Given the description of an element on the screen output the (x, y) to click on. 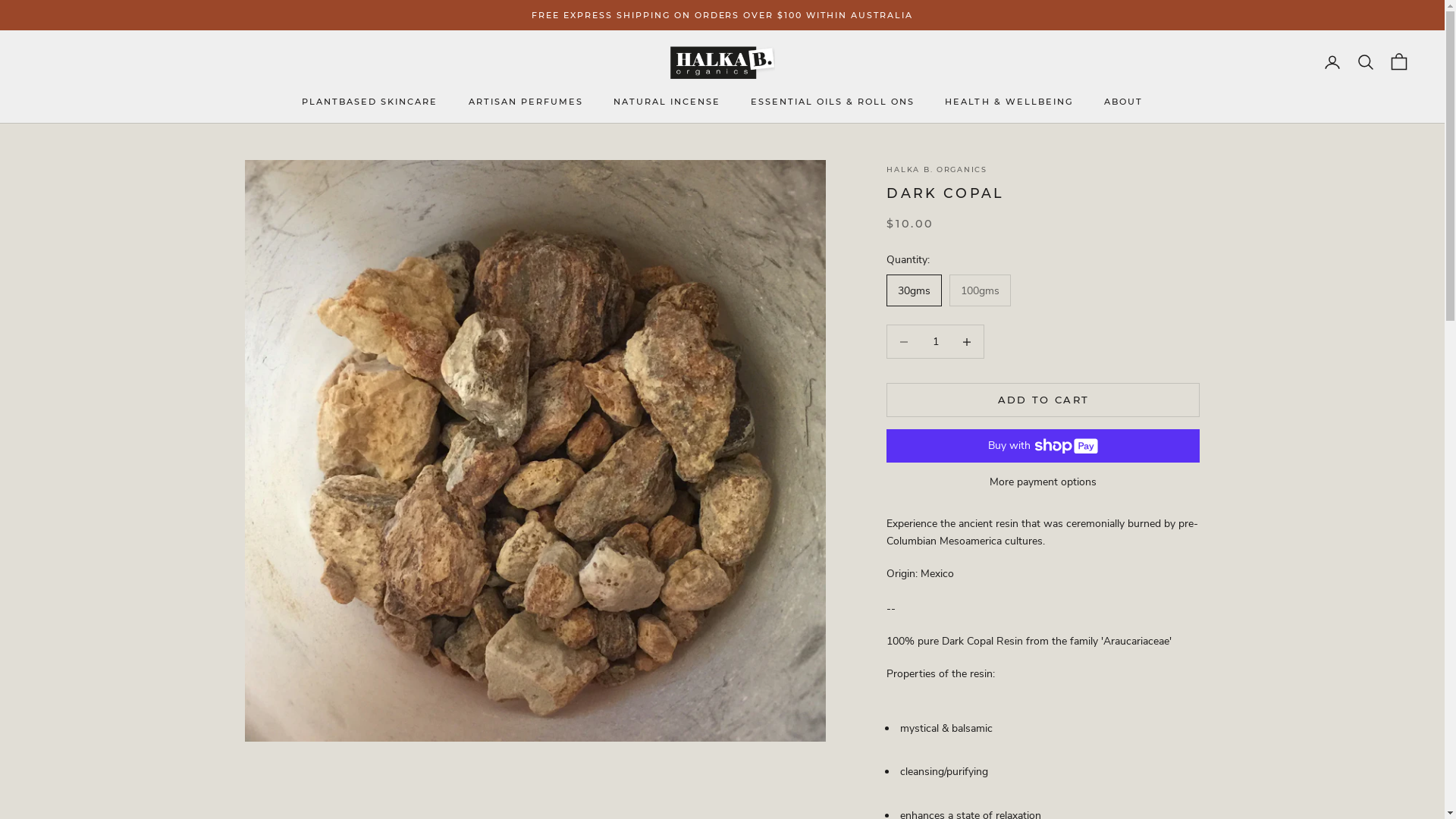
Open search Element type: text (1365, 62)
Decrease quantity Element type: text (903, 341)
Decrease quantity Element type: text (966, 341)
Halka B. Organics Element type: text (721, 61)
Open account page Element type: text (1332, 62)
HALKA B. ORGANICS Element type: text (936, 169)
ADD TO CART Element type: text (1042, 399)
More payment options Element type: text (1042, 481)
Open cart Element type: text (1399, 62)
